Given the description of an element on the screen output the (x, y) to click on. 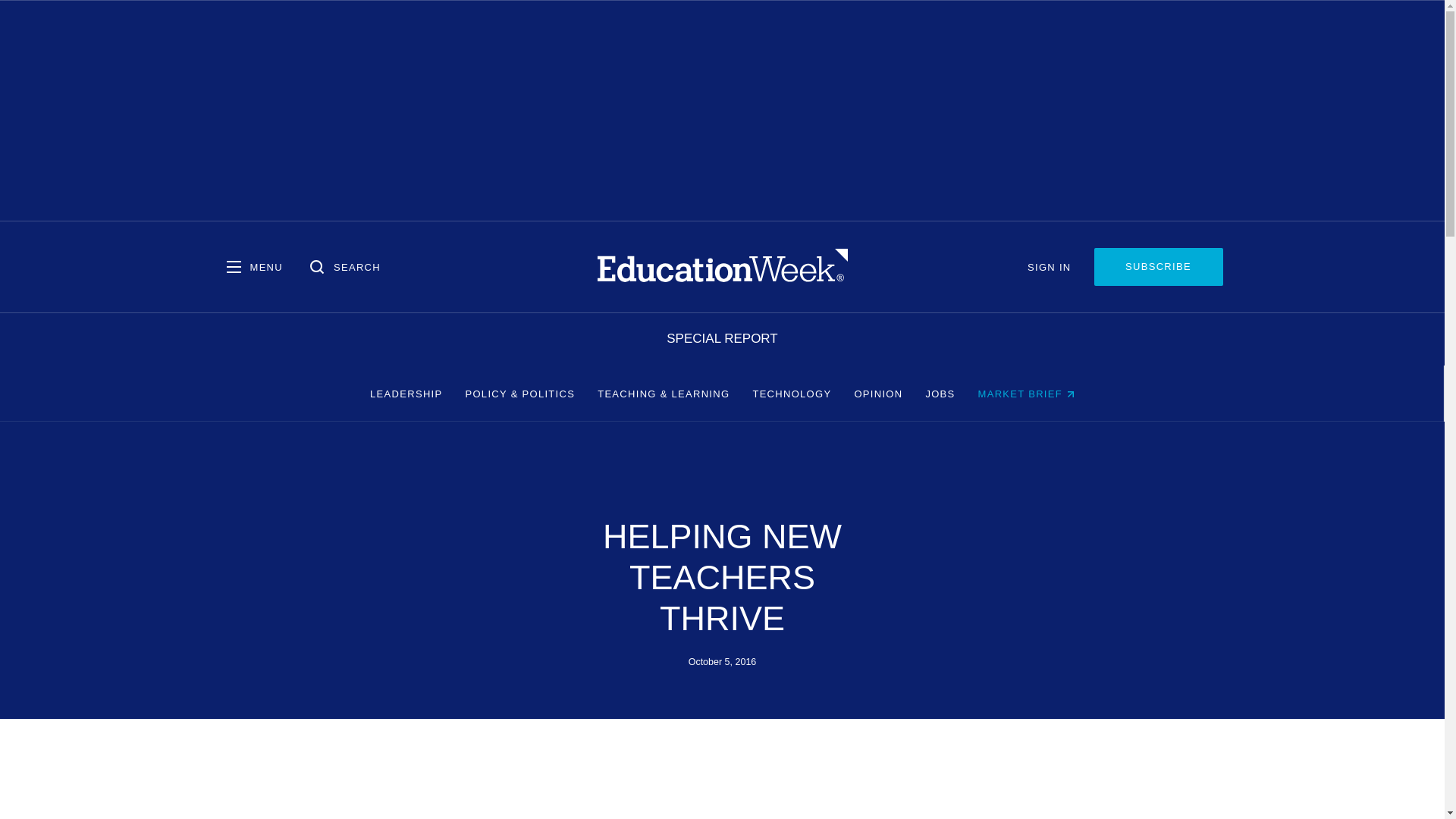
Homepage (721, 266)
